Given the description of an element on the screen output the (x, y) to click on. 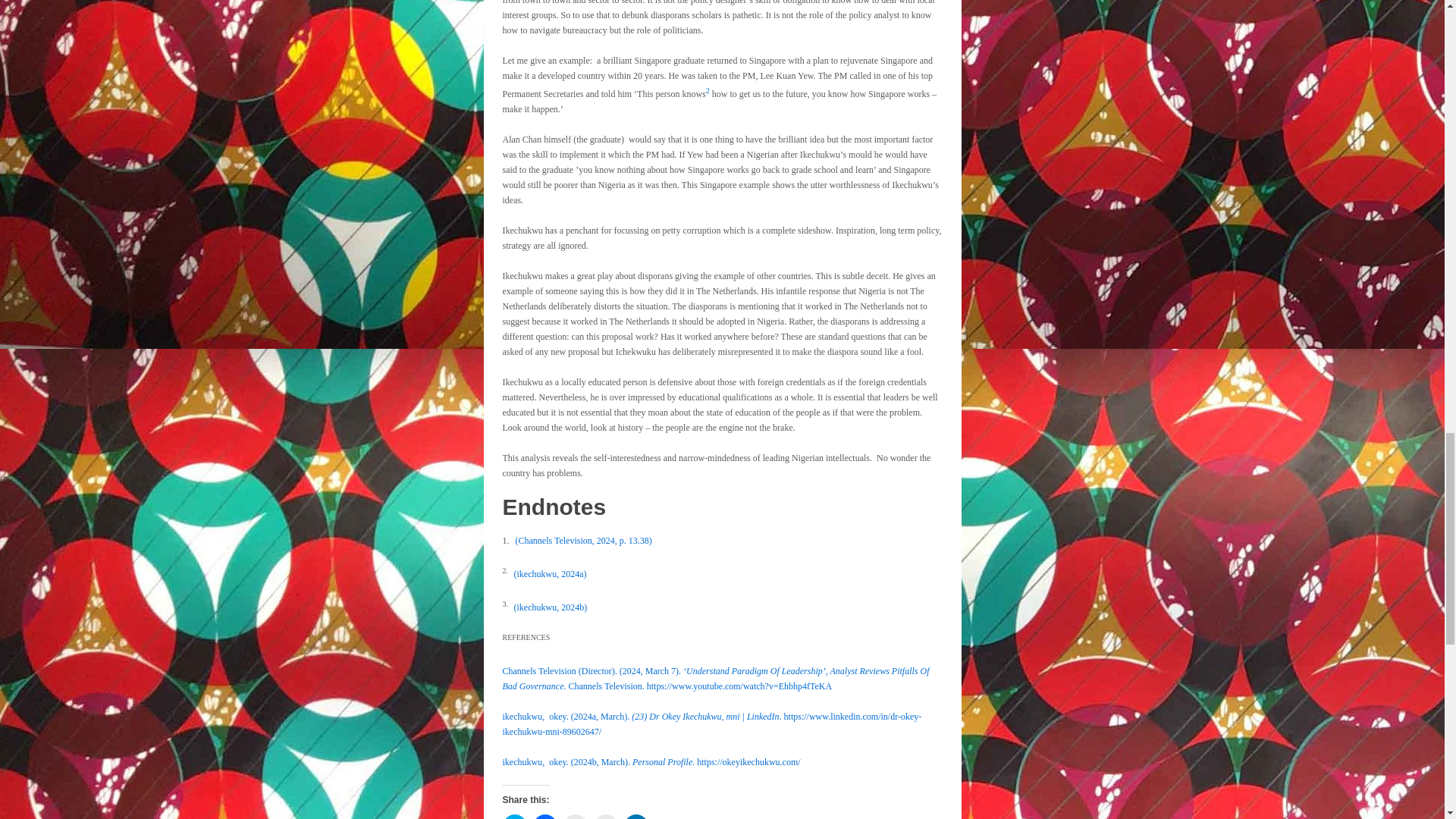
Click to email a link to a friend (604, 816)
Click to print (574, 816)
Click to share on LinkedIn (635, 816)
Click to share on Facebook (544, 816)
Click to share on Twitter (513, 816)
